Given the description of an element on the screen output the (x, y) to click on. 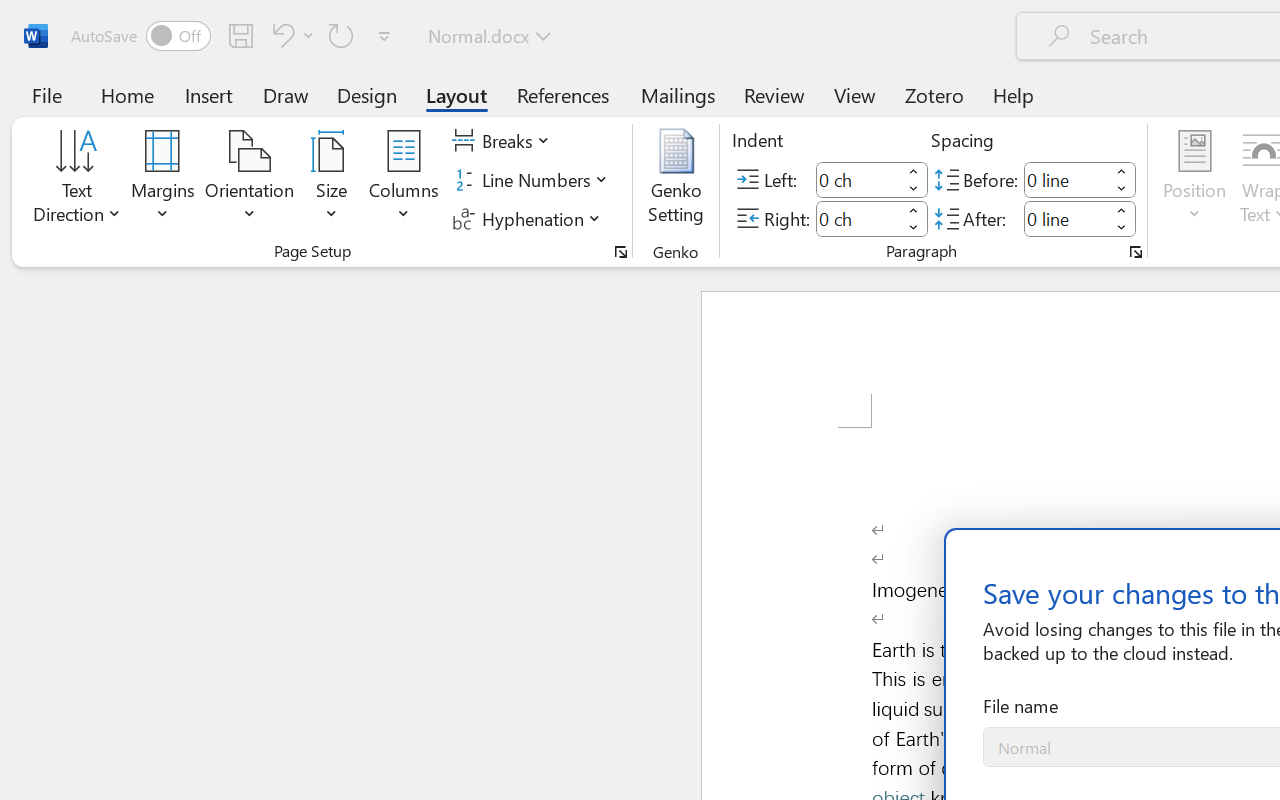
Undo Paste Destination Formatting (280, 35)
Repeat Paste Option (341, 35)
Hyphenation (529, 218)
Indent Left (858, 179)
Line Numbers (532, 179)
Breaks (504, 141)
